Given the description of an element on the screen output the (x, y) to click on. 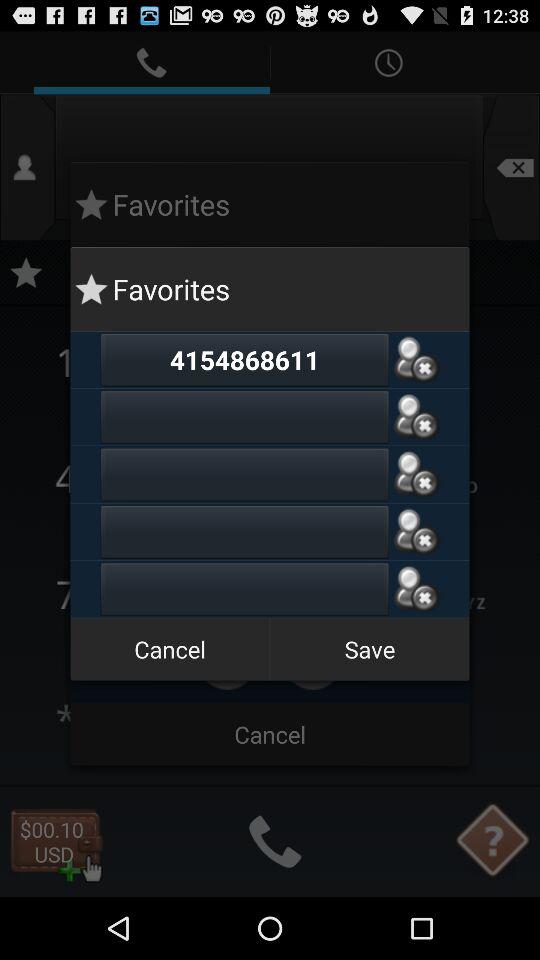
edit fourth favorite (244, 531)
